Given the description of an element on the screen output the (x, y) to click on. 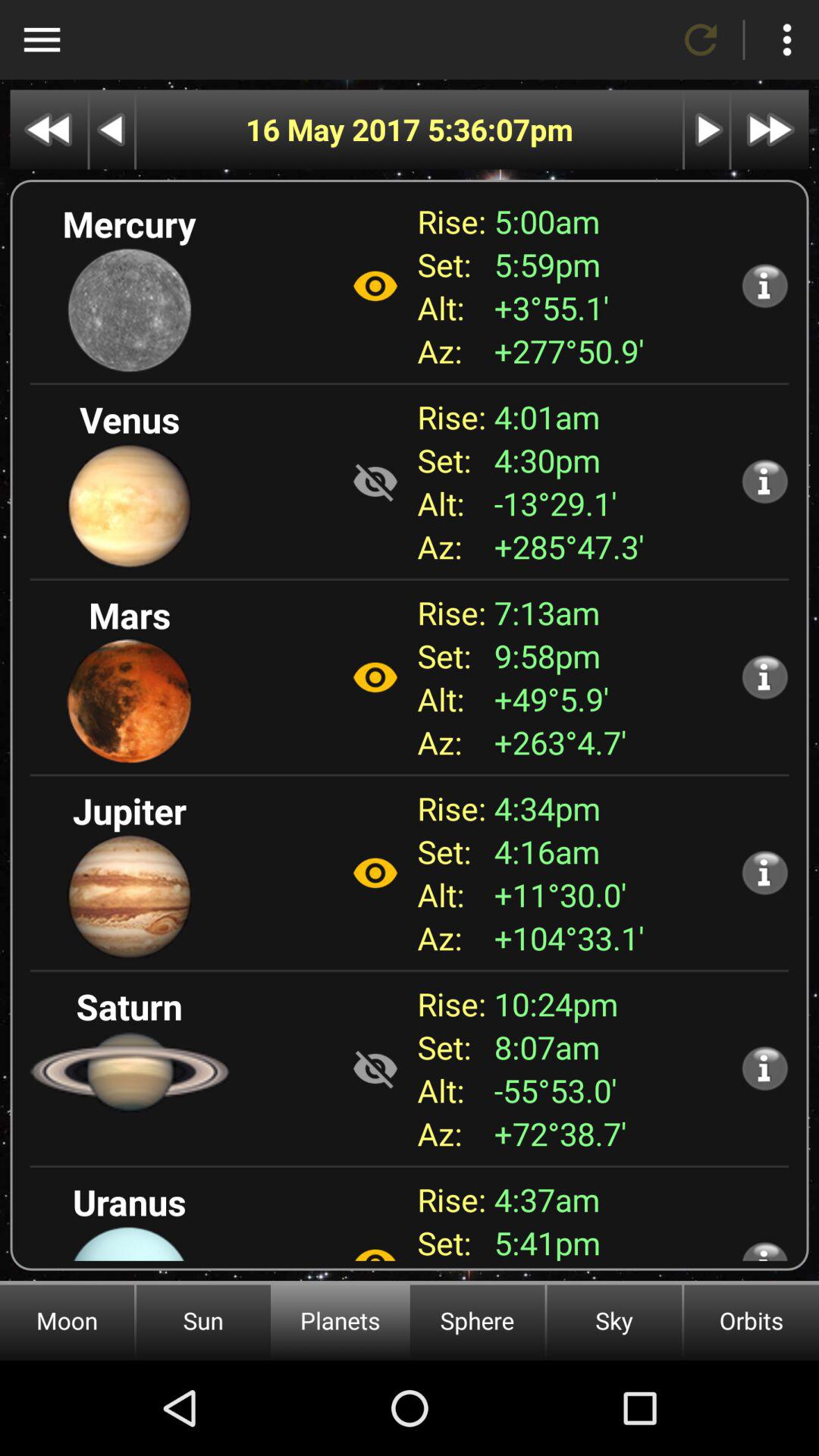
highlights menu area (41, 39)
